Given the description of an element on the screen output the (x, y) to click on. 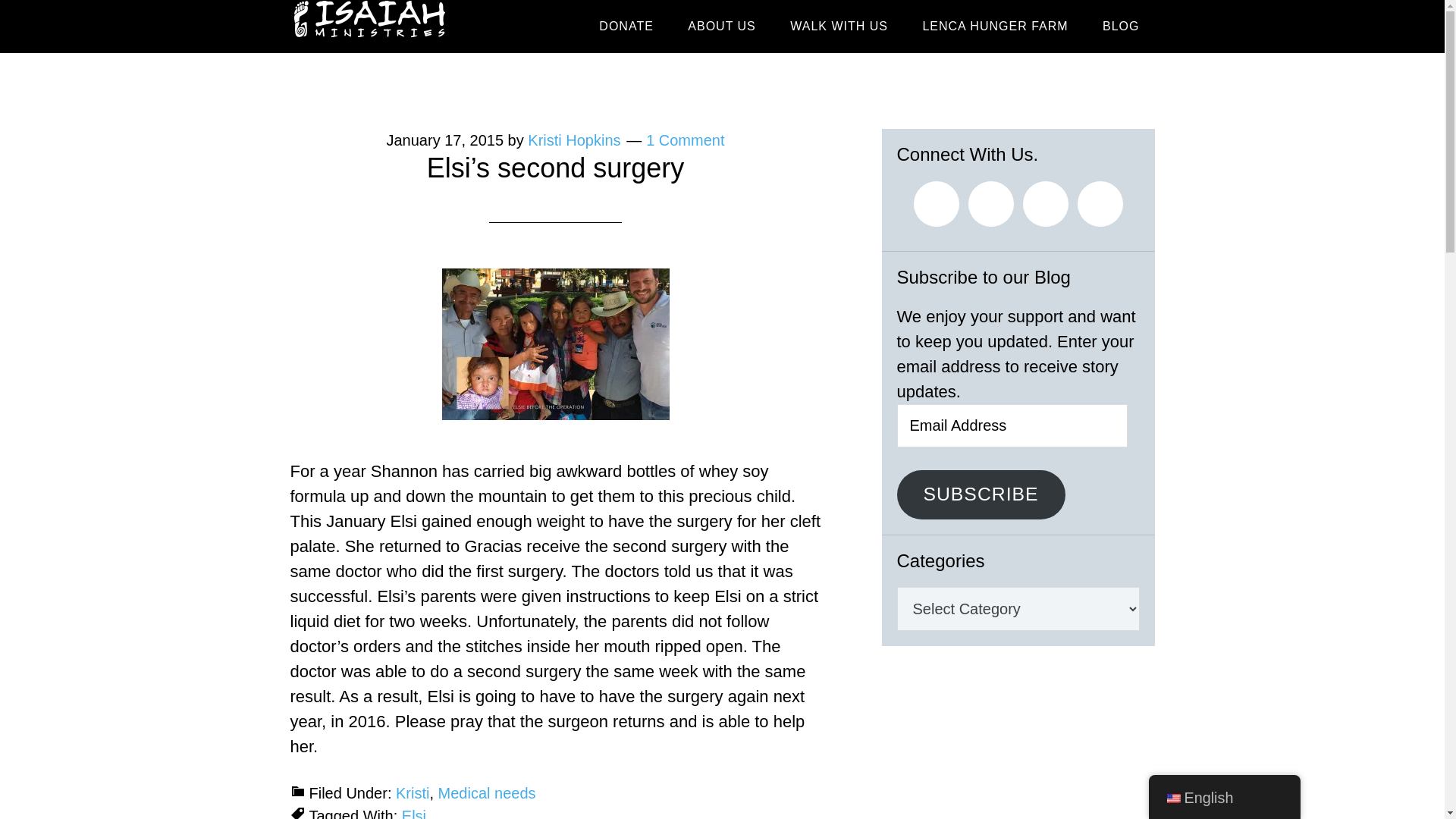
61 ISAIAH (425, 26)
BLOG (1120, 26)
DONATE (625, 26)
LENCA HUNGER FARM (995, 26)
Kristi Hopkins (573, 139)
ABOUT US (721, 26)
Elsi (413, 813)
1 Comment (684, 139)
WALK WITH US (838, 26)
English (1224, 798)
